Given the description of an element on the screen output the (x, y) to click on. 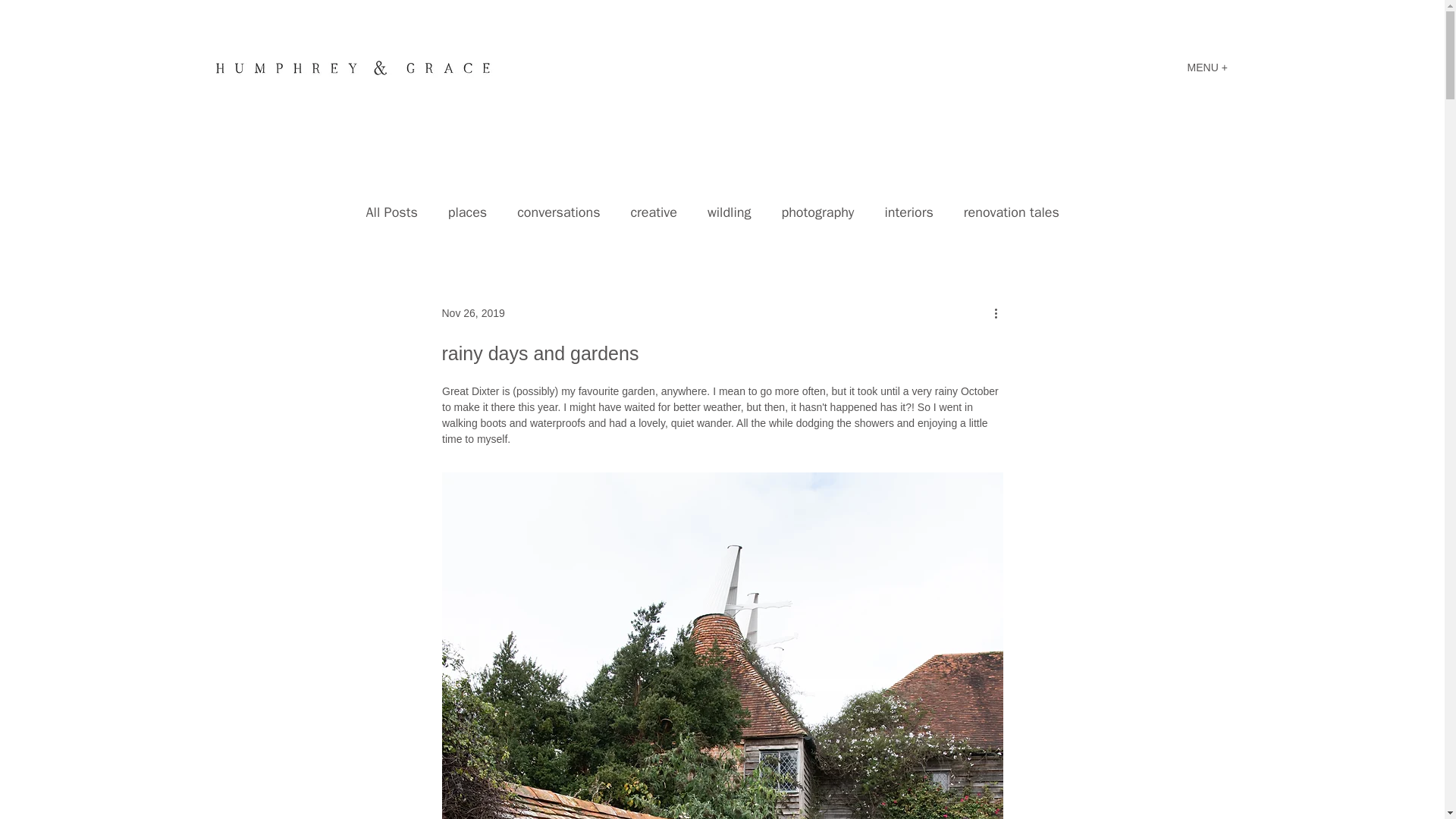
conversations (557, 212)
renovation tales (1011, 212)
interiors (908, 212)
photography (816, 212)
creative (653, 212)
places (467, 212)
Nov 26, 2019 (472, 312)
All Posts (390, 212)
wildling (729, 212)
